Given the description of an element on the screen output the (x, y) to click on. 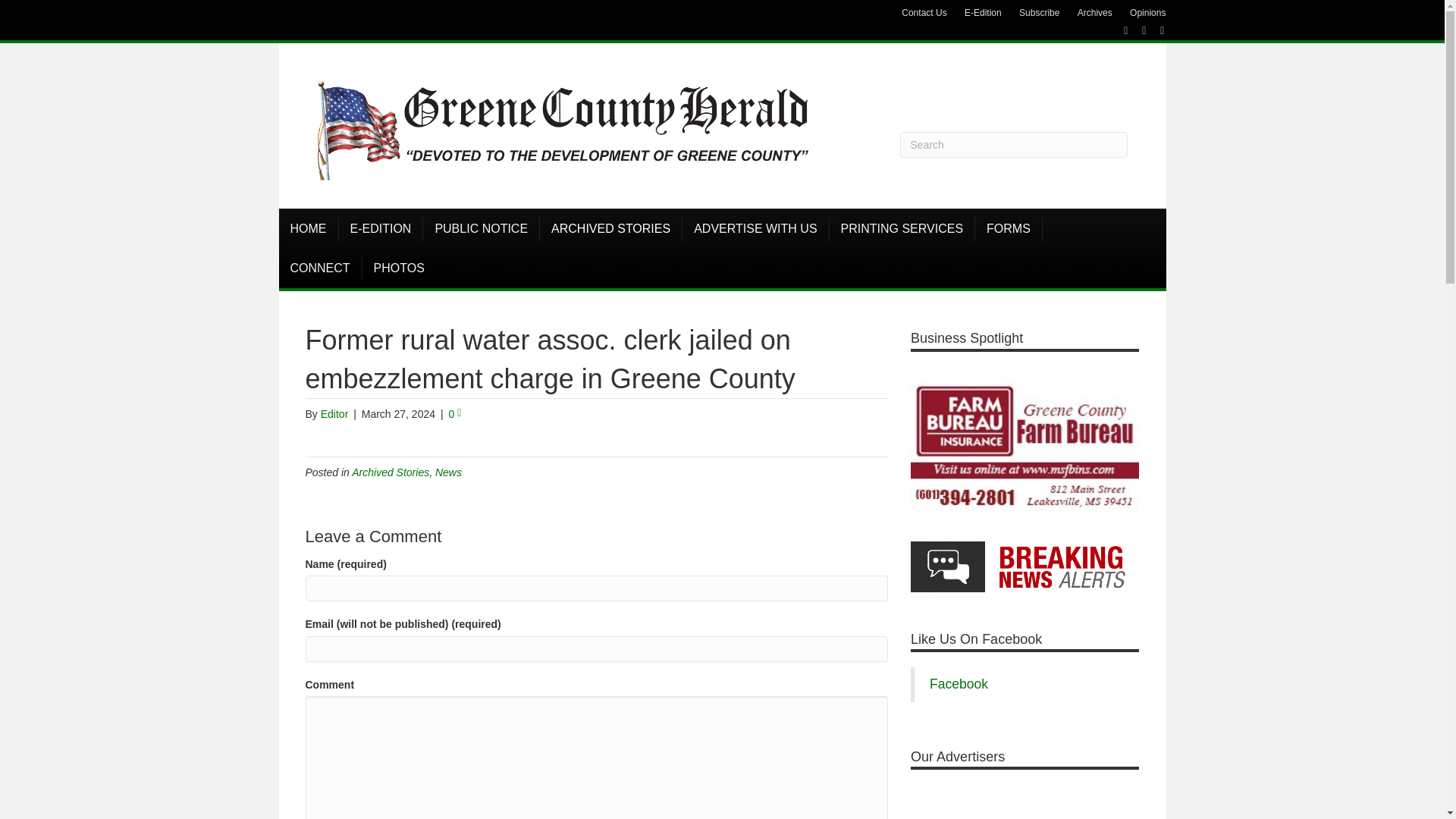
Subscribe (1039, 13)
Editor (334, 413)
Facebook (1117, 30)
FORMS (1008, 228)
PHOTOS (398, 268)
Opinions (1147, 13)
Twitter (1135, 30)
Email (1154, 30)
Type and press Enter to search. (1012, 144)
Archives (1094, 13)
Contact Us (923, 13)
ARCHIVED STORIES (611, 228)
E-Edition (982, 13)
PUBLIC NOTICE (481, 228)
E-EDITION (380, 228)
